Given the description of an element on the screen output the (x, y) to click on. 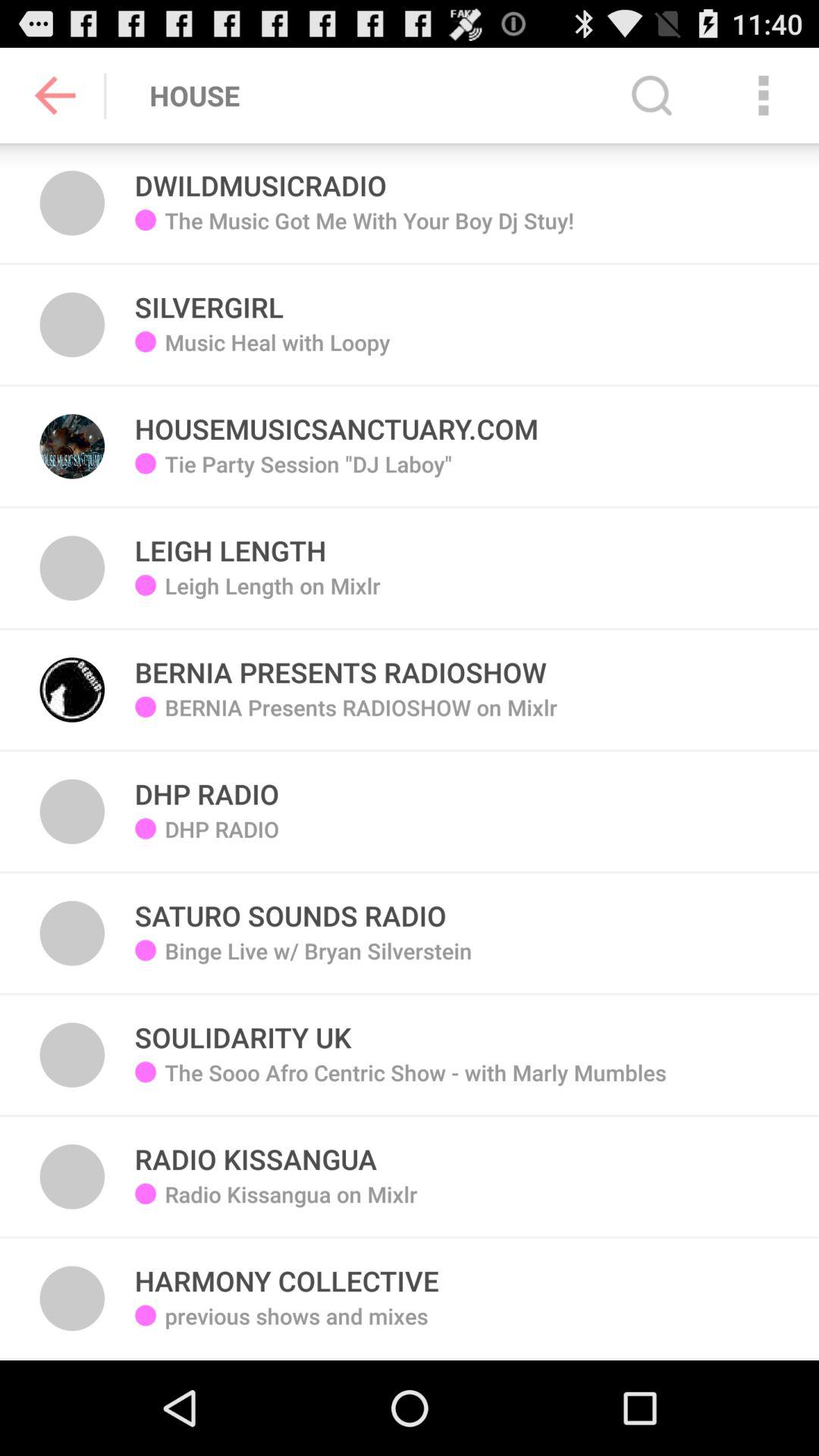
flip until the sooo afro (415, 1083)
